Given the description of an element on the screen output the (x, y) to click on. 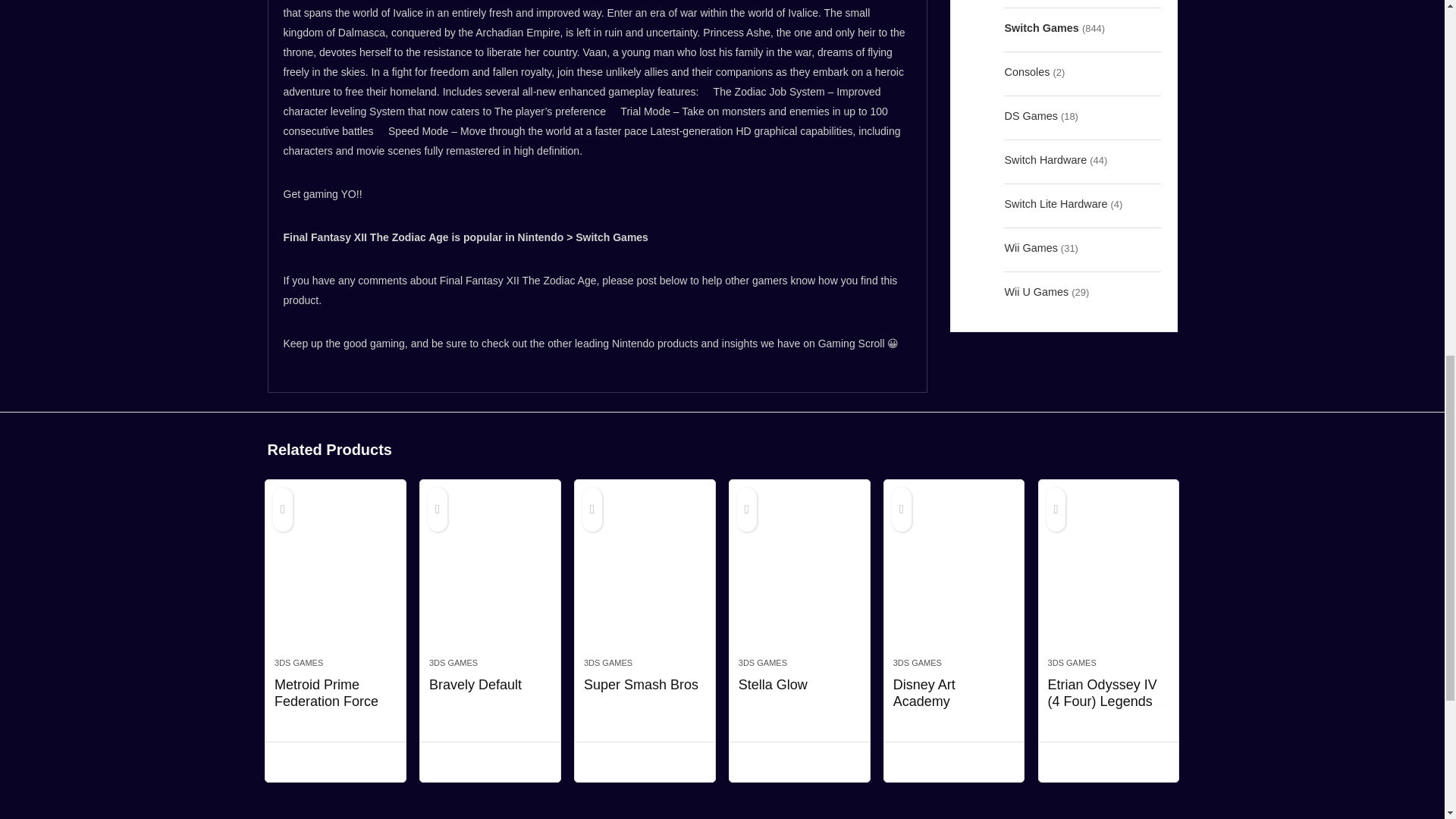
Disney Art Academy (953, 575)
Consoles (1026, 71)
Switch Lite Hardware (1055, 203)
Super Smash Bros (644, 575)
3DS GAMES (299, 662)
Stella Glow (799, 575)
Switch Hardware (1045, 159)
DS Games (1030, 115)
Bravely Default (490, 575)
3DS GAMES (607, 662)
3DS Games (1033, 2)
Wii Games (1030, 247)
3DS GAMES (453, 662)
Bravely Default (475, 684)
Metroid Prime Federation Force (326, 693)
